Given the description of an element on the screen output the (x, y) to click on. 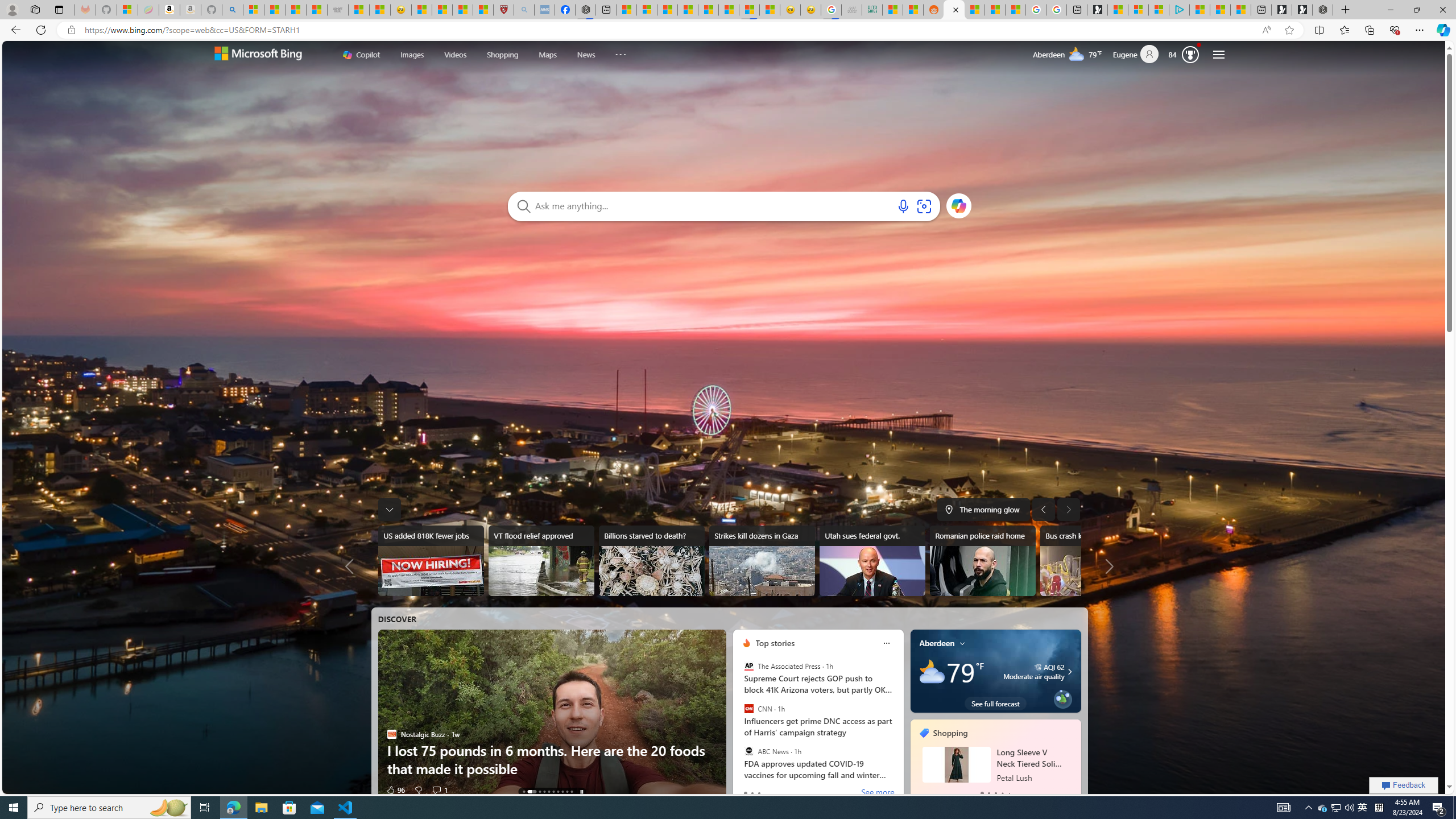
These 3 Stocks Pay You More Than 5% to Own Them (1240, 9)
Bing (954, 9)
Mostly cloudy (931, 671)
Mostly cloudy (931, 671)
tab-1 (988, 793)
Microsoft Rewards 84 (1185, 54)
